Given the description of an element on the screen output the (x, y) to click on. 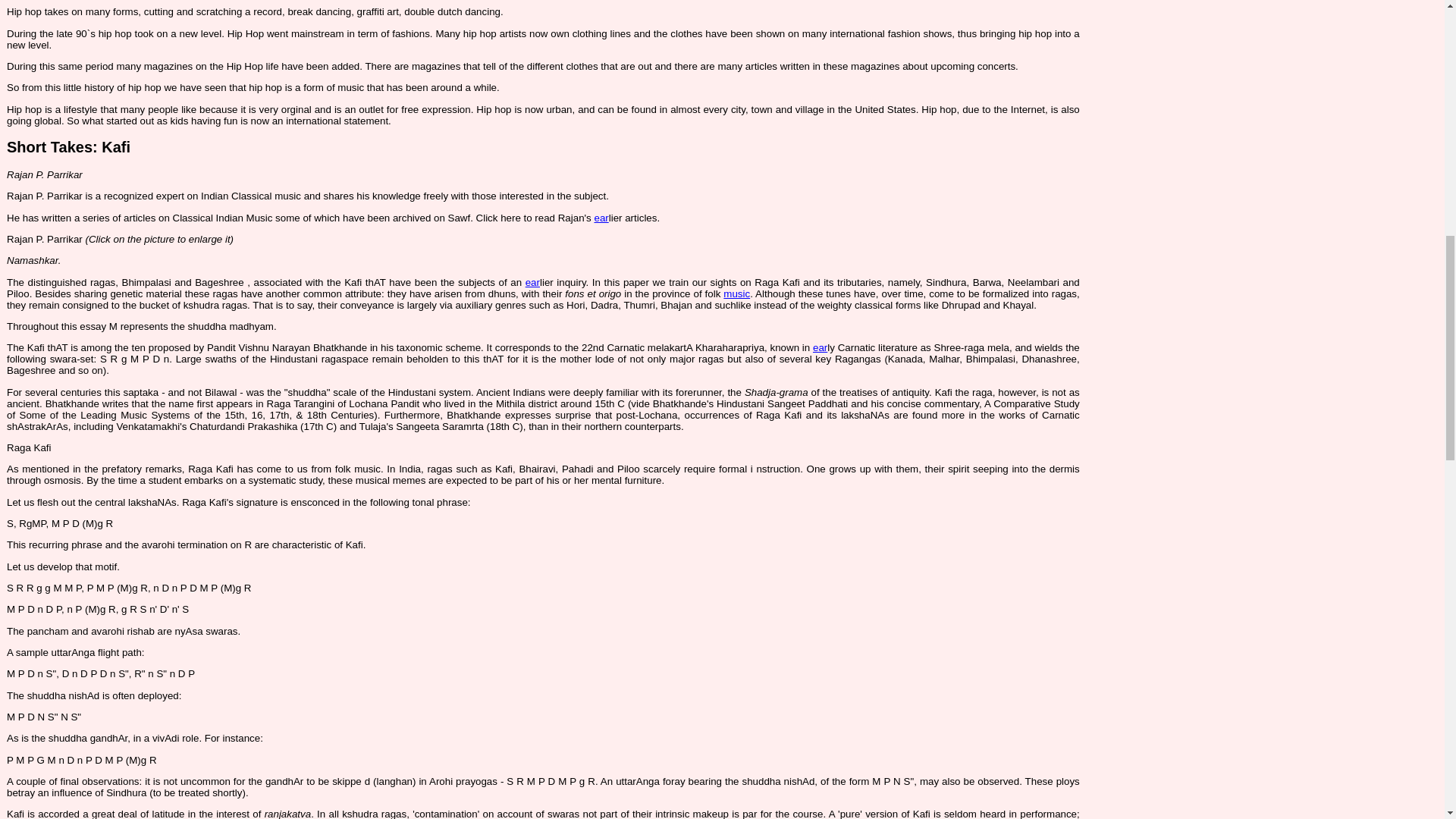
ear (601, 217)
ear (819, 347)
ear (532, 282)
Bageshree (219, 282)
music (736, 293)
Bhimpalasi (146, 282)
